Given the description of an element on the screen output the (x, y) to click on. 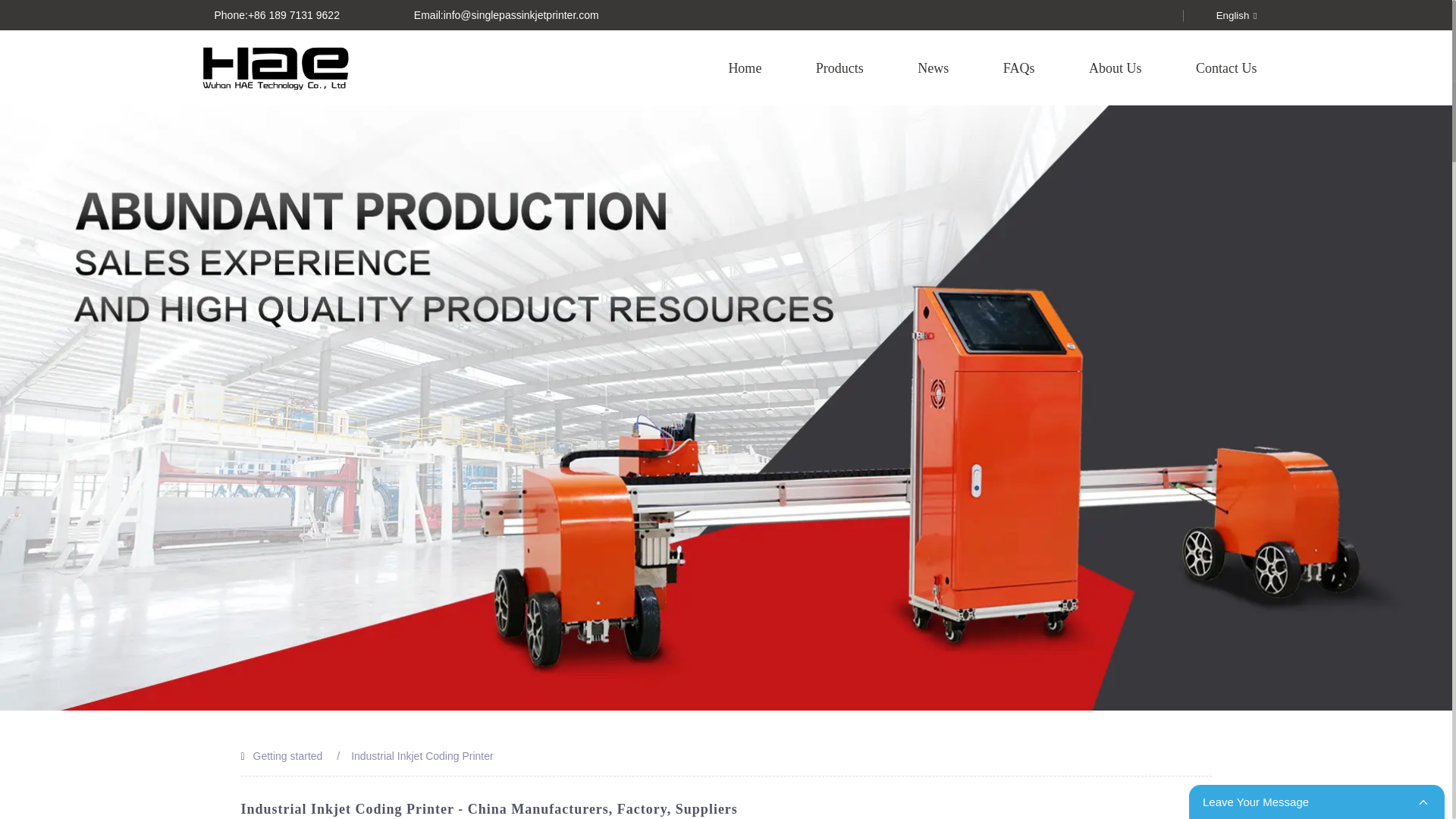
Industrial Inkjet Coding Printer (421, 756)
English (1224, 15)
Contact Us (1226, 67)
Home (744, 67)
About Us (1115, 67)
News (932, 67)
Getting started (288, 756)
FAQs (1018, 67)
Products (840, 67)
